Given the description of an element on the screen output the (x, y) to click on. 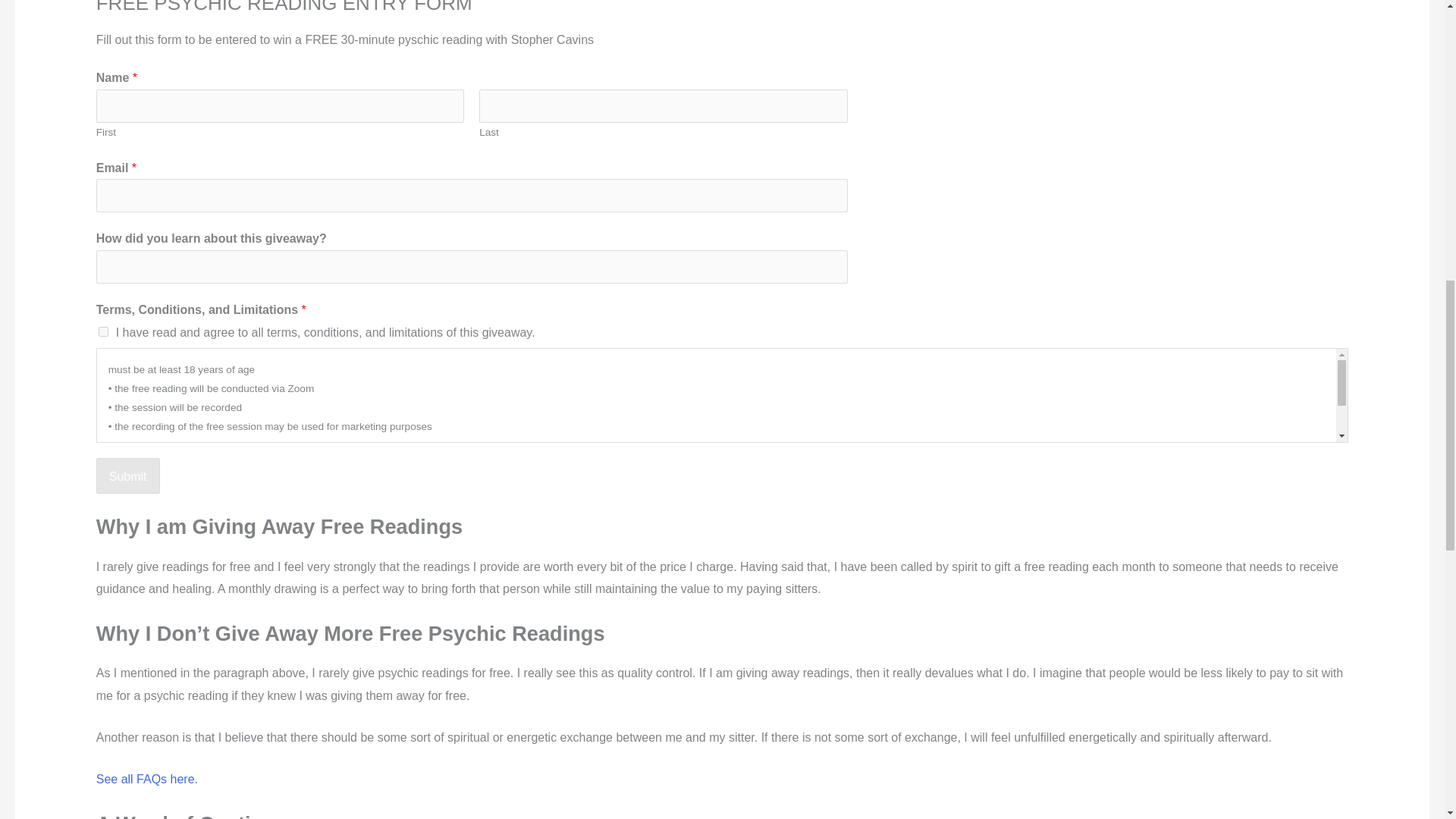
Submit (128, 475)
See all FAQs here. (147, 779)
